Given the description of an element on the screen output the (x, y) to click on. 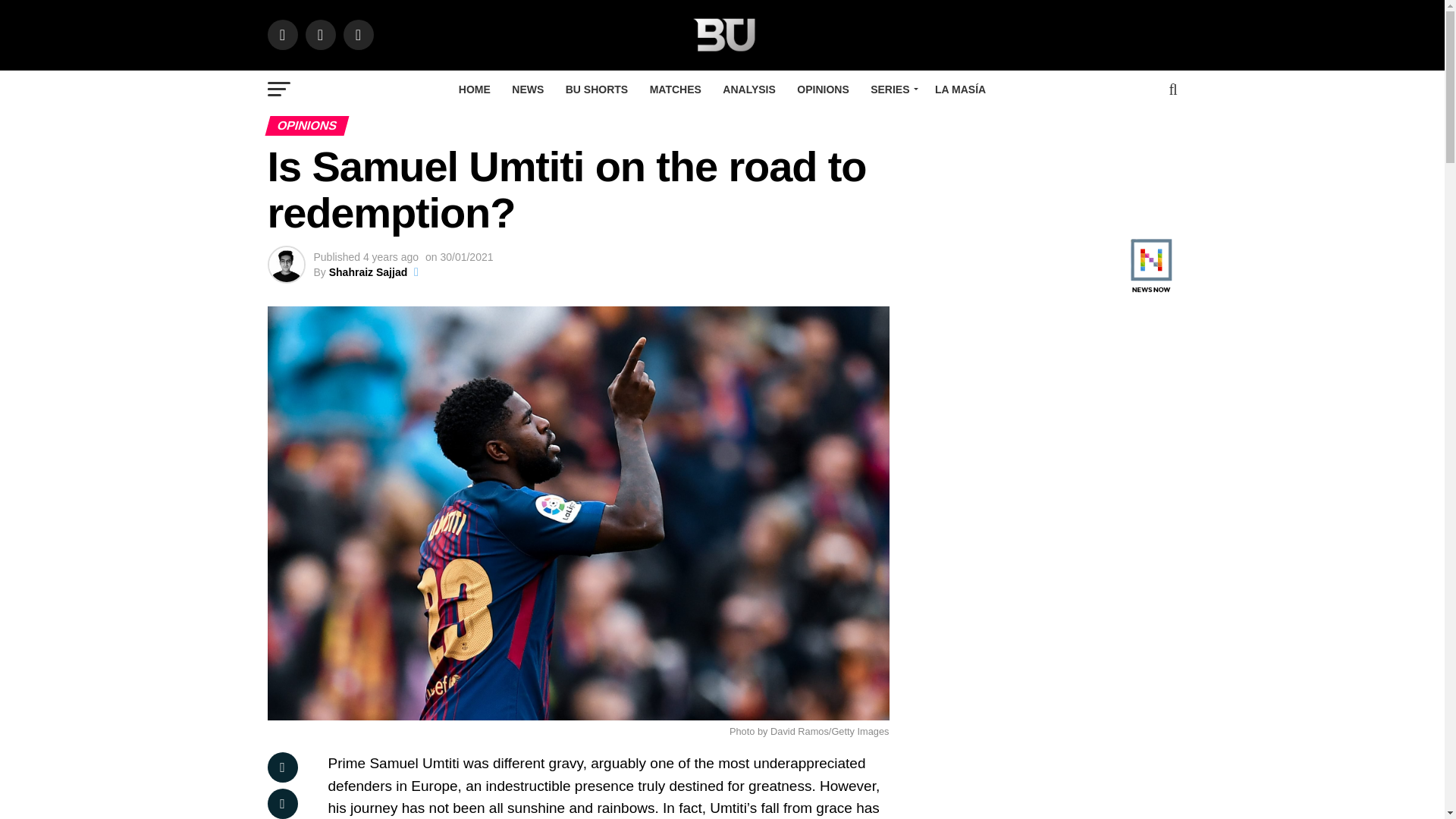
BU SHORTS (596, 89)
HOME (474, 89)
Posts by Shahraiz Sajjad (368, 272)
NEWS (527, 89)
